Given the description of an element on the screen output the (x, y) to click on. 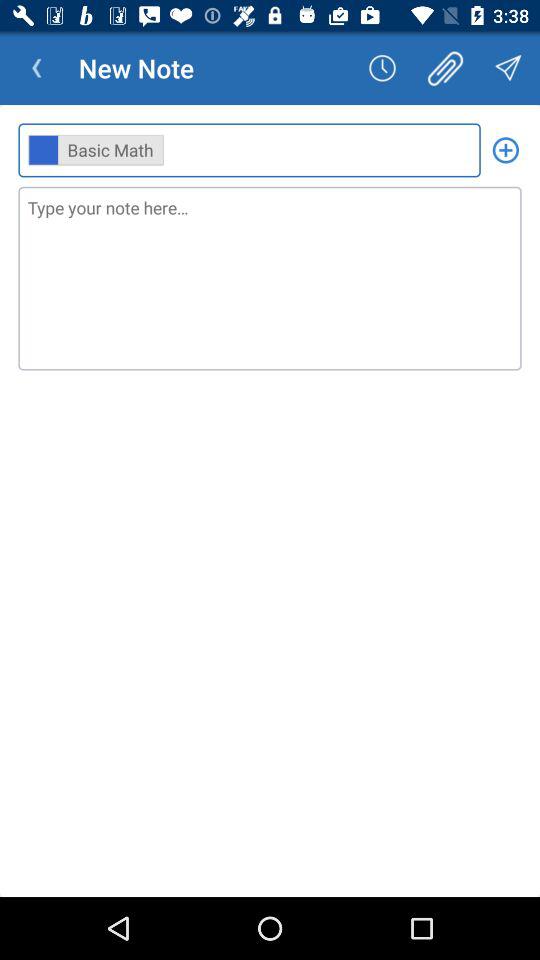
click the app next to new note (381, 67)
